Given the description of an element on the screen output the (x, y) to click on. 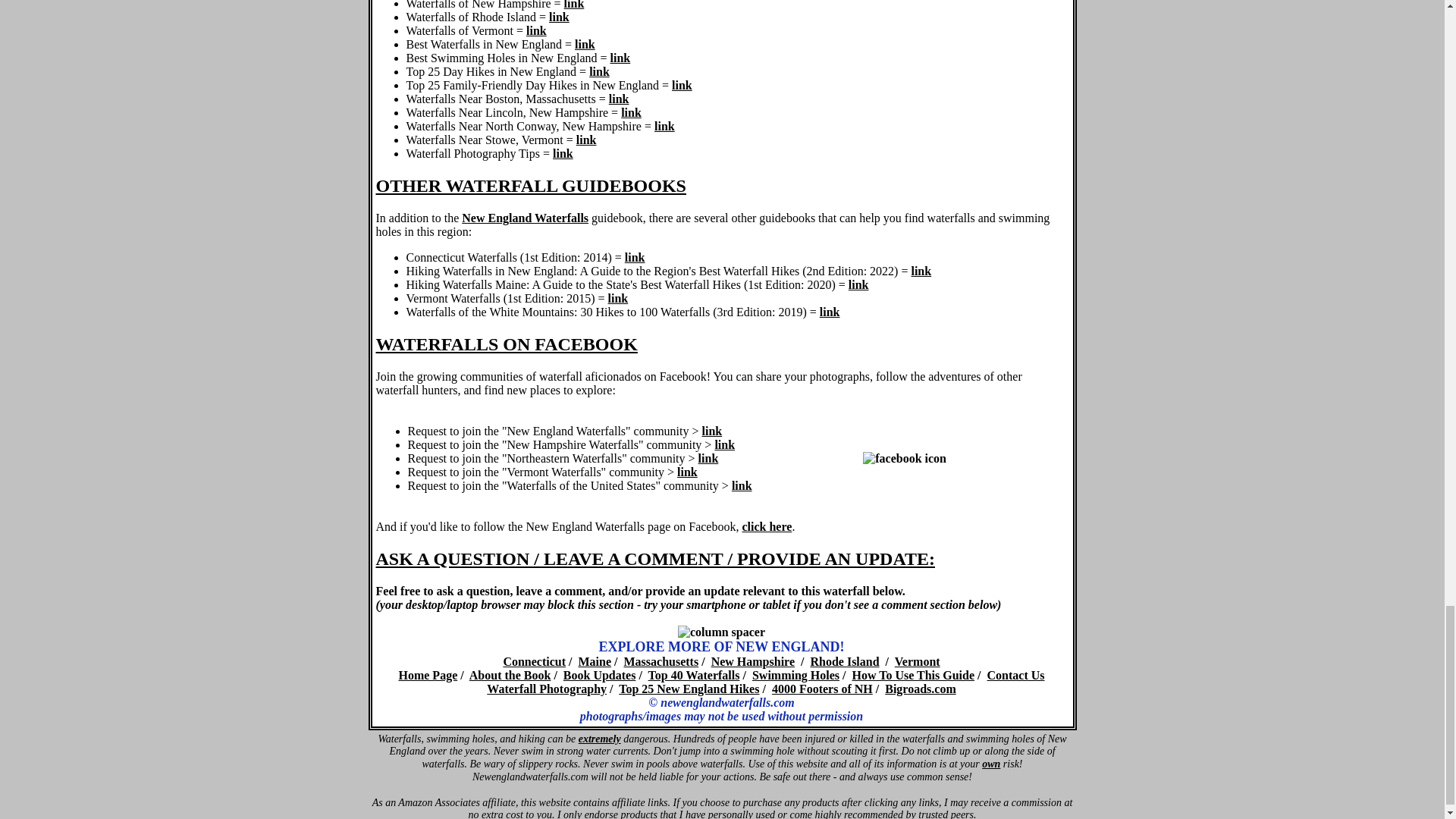
New England Waterfalls (524, 217)
link (585, 43)
link (664, 125)
link (631, 112)
link (586, 139)
link (682, 84)
link (599, 71)
link (618, 98)
link (574, 4)
link (620, 57)
link (563, 153)
link (634, 256)
link (536, 30)
link (558, 16)
